Given the description of an element on the screen output the (x, y) to click on. 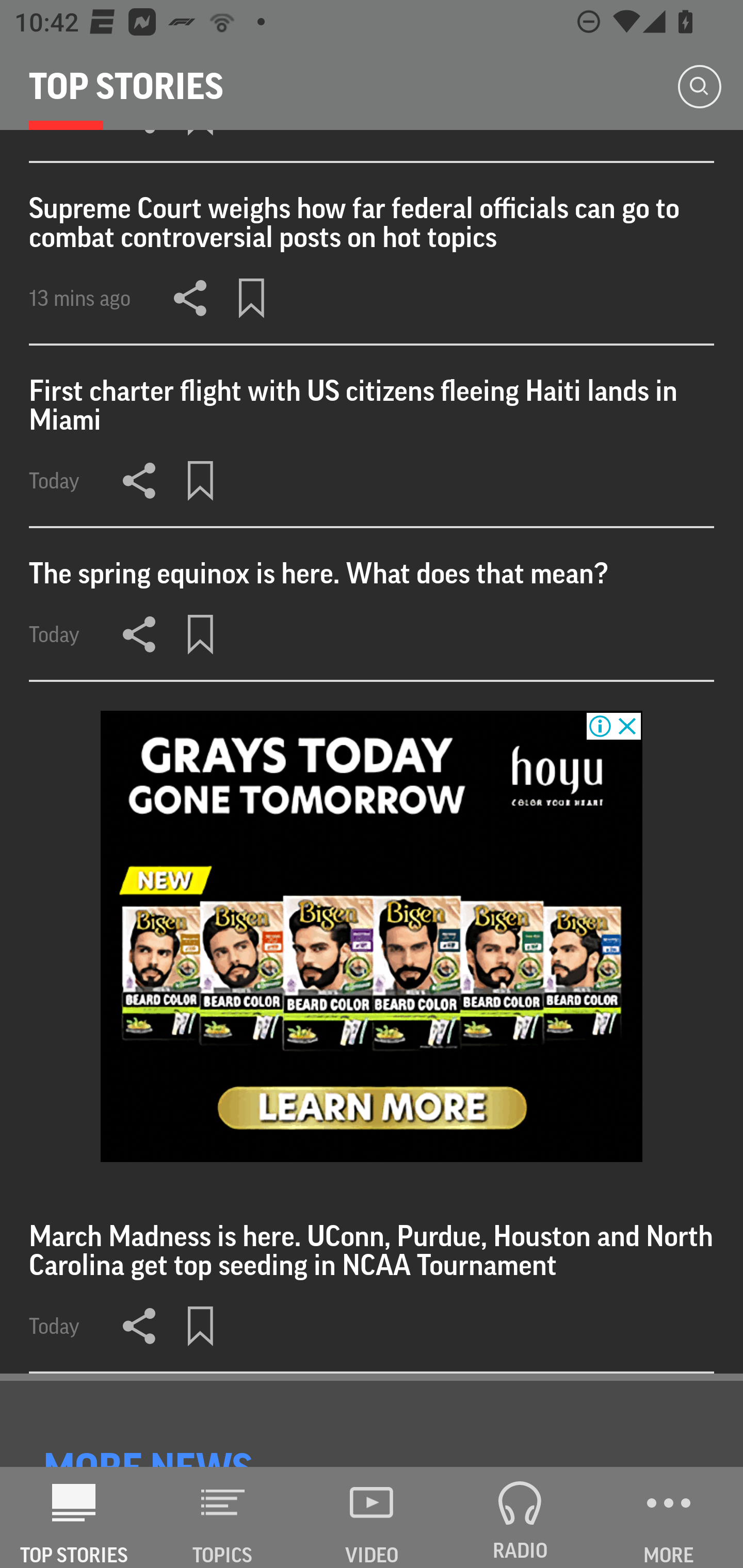
28 (371, 935)
AP News TOP STORIES (74, 1517)
TOPICS (222, 1517)
VIDEO (371, 1517)
RADIO (519, 1517)
MORE (668, 1517)
